Given the description of an element on the screen output the (x, y) to click on. 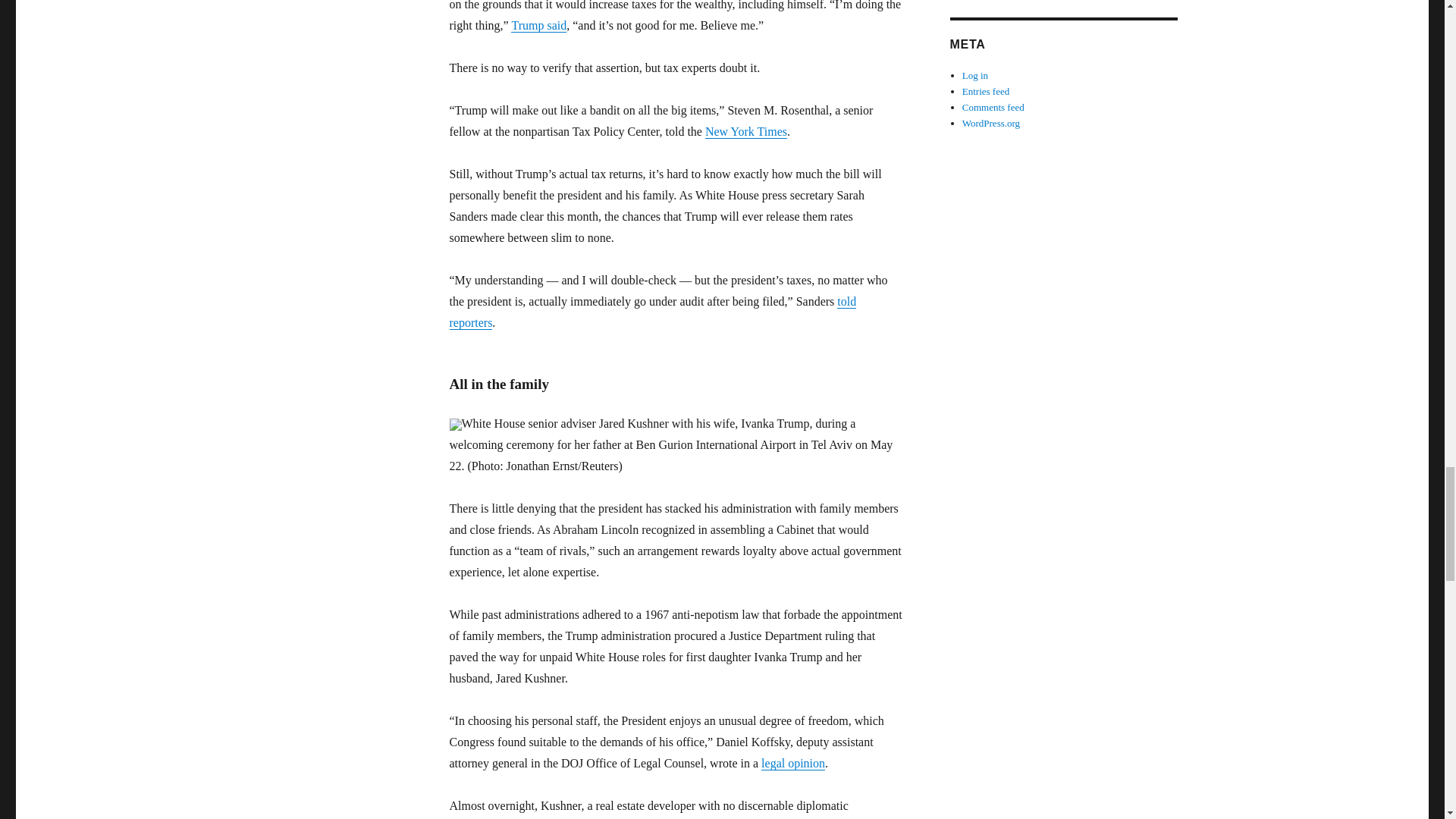
New York Times (745, 131)
Trump said (538, 24)
told reporters (652, 311)
legal opinion (793, 762)
